Given the description of an element on the screen output the (x, y) to click on. 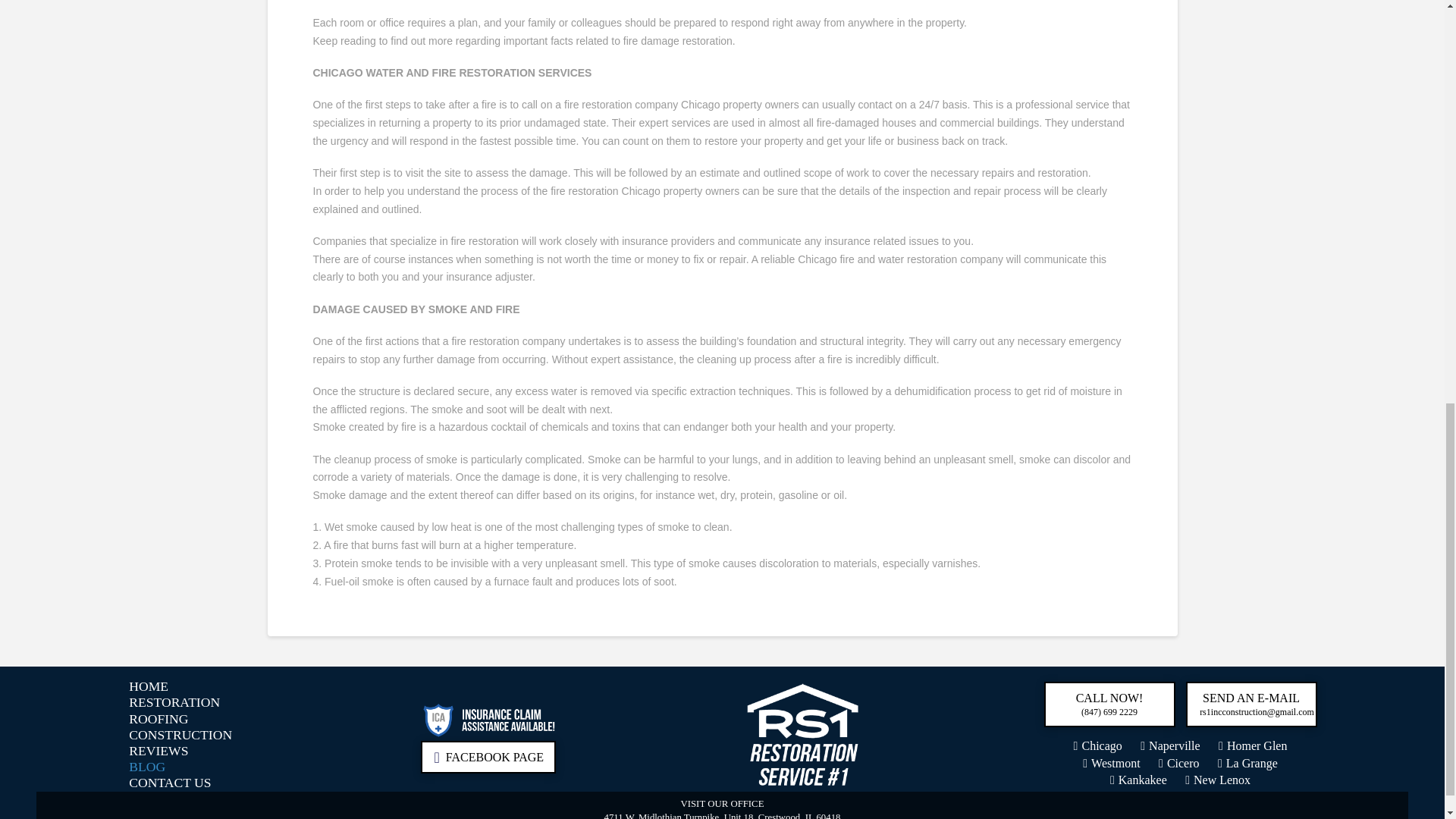
Chicago (1098, 745)
FACEBOOK PAGE (487, 757)
Westmont (1111, 762)
REVIEWS (158, 750)
Naperville (1169, 745)
New Lenox (1217, 779)
BLOG (147, 766)
Homer Glen (1252, 745)
ROOFING (158, 719)
La Grange (1247, 762)
RESTORATION (174, 703)
4711 W. Midlothian Turnpike, Unit 18, Crestwood, IL 60418 (722, 815)
Cicero (1178, 762)
CONSTRUCTION (180, 734)
HOME (148, 686)
